Given the description of an element on the screen output the (x, y) to click on. 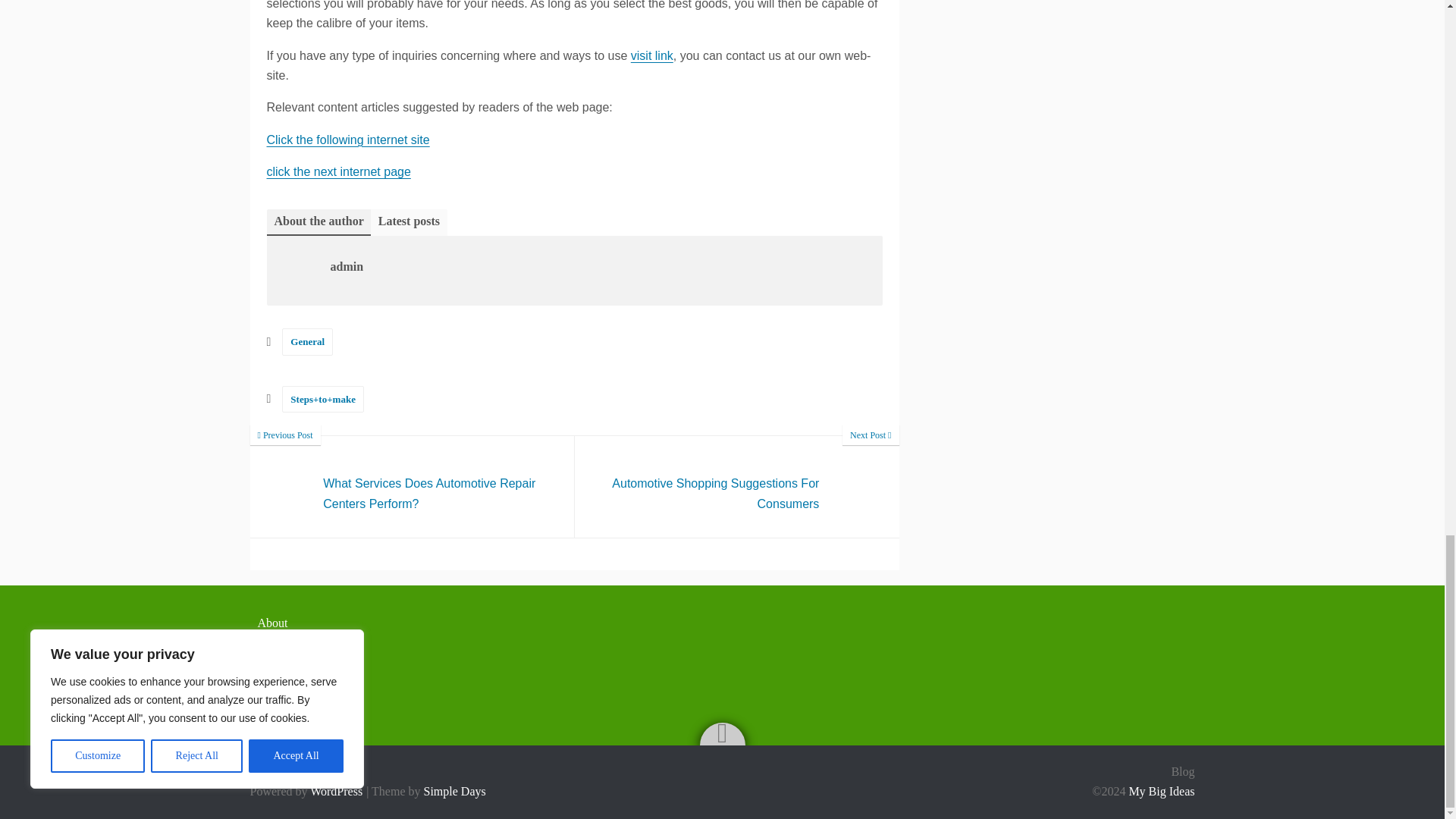
click the next internet page (338, 171)
visit link (651, 54)
General (737, 486)
Click the following internet site (307, 341)
Automotive Shopping Suggestions For Consumers (347, 139)
What Services Does Automotive Repair Centers Perform? (737, 486)
